Given the description of an element on the screen output the (x, y) to click on. 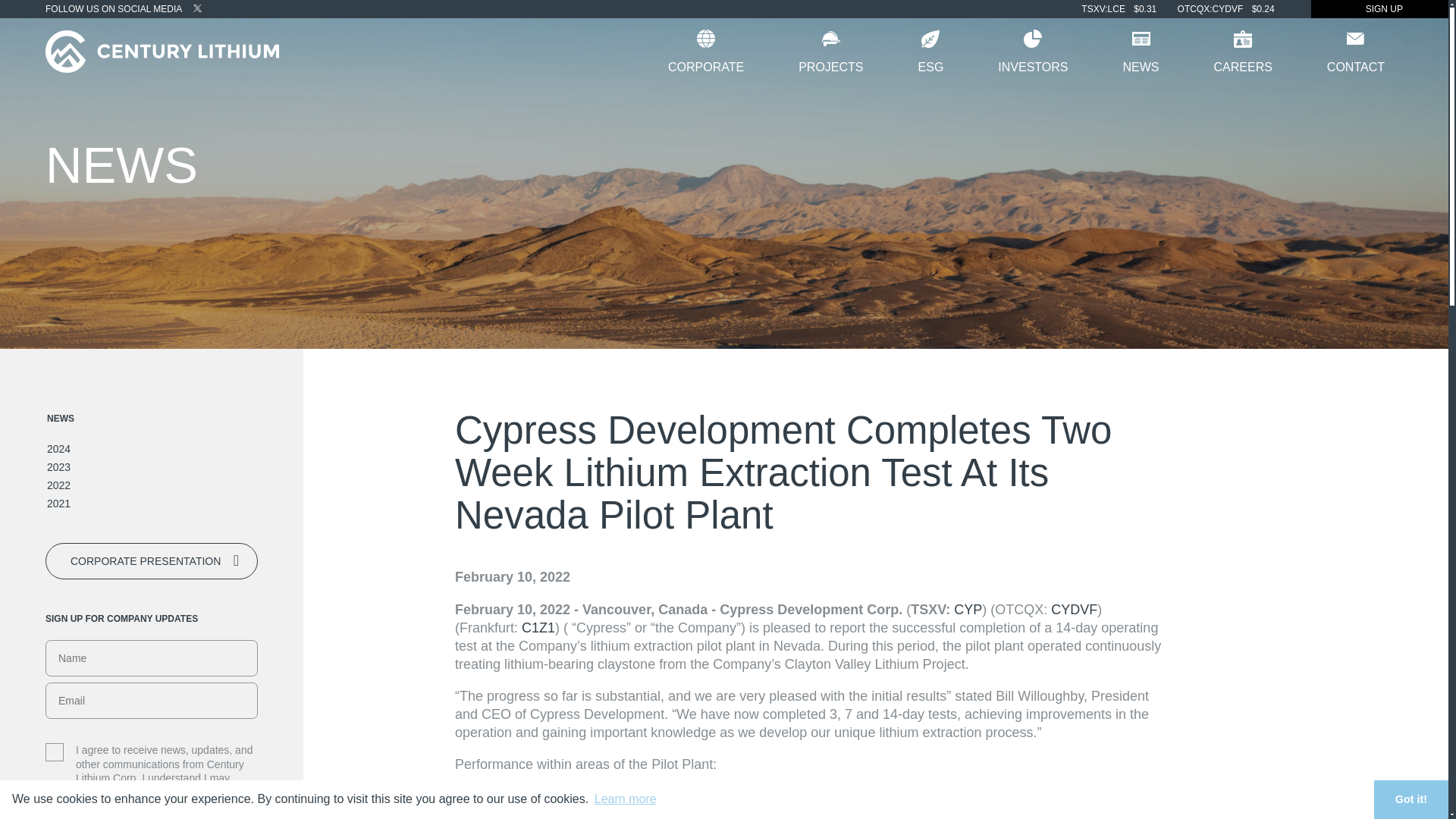
INVESTORS (1032, 51)
yes (54, 751)
CAREERS (1242, 51)
TSXV:LCE (1103, 9)
Projects (830, 51)
ESG (930, 51)
OTCQX:CYDVF (1210, 9)
CONTACT (1355, 51)
PROJECTS (830, 51)
NEWS (1139, 51)
SIGN UP (1379, 9)
CORPORATE (705, 51)
ESG (930, 51)
SIGN UP (1379, 9)
Investors (1032, 51)
